Given the description of an element on the screen output the (x, y) to click on. 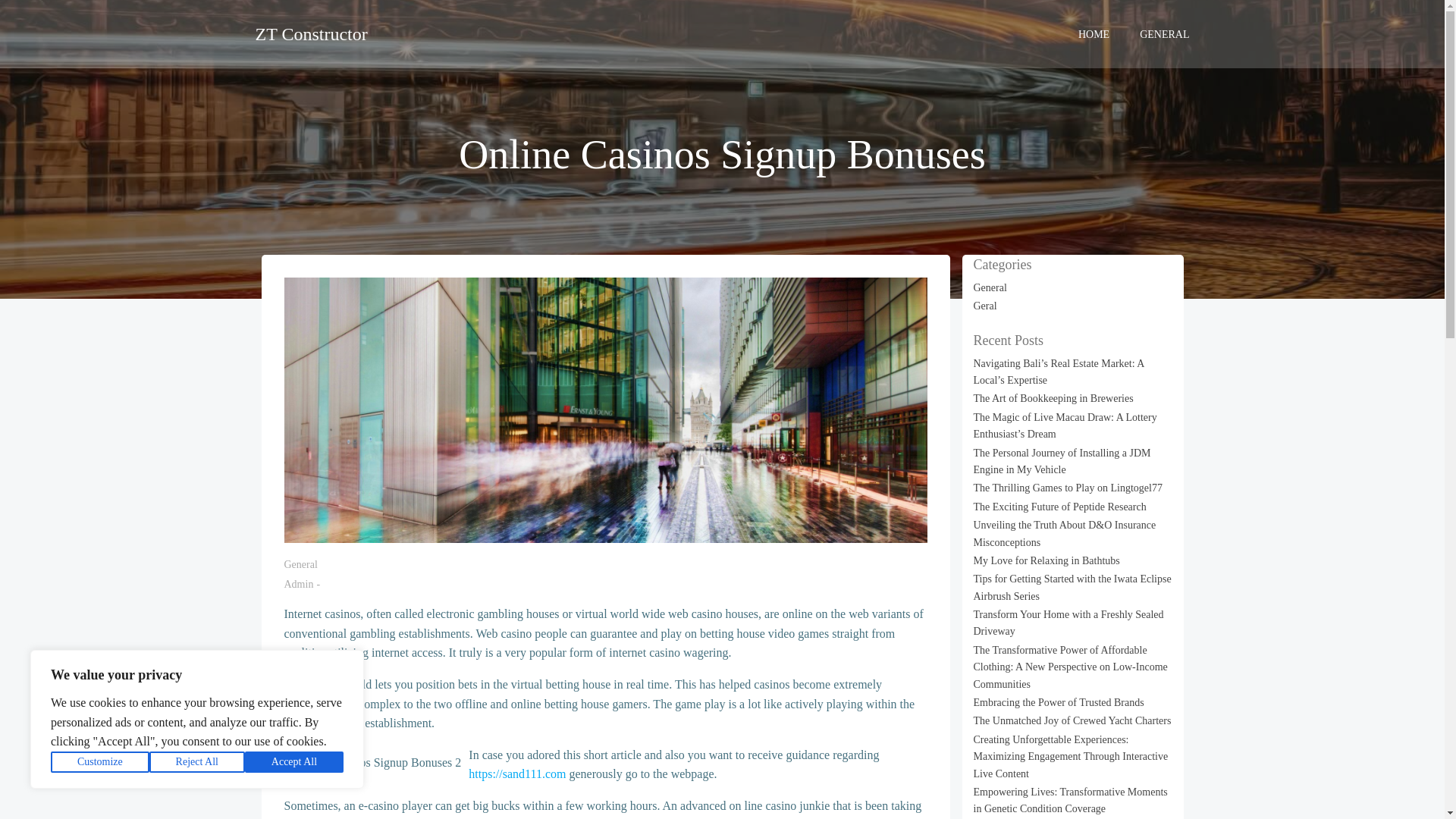
GENERAL (1164, 33)
HOME (1093, 33)
Customize (99, 762)
The Art of Bookkeeping in Breweries (1054, 398)
General (300, 564)
ZT Constructor (310, 33)
Reject All (196, 762)
General (990, 287)
Accept All (293, 762)
Admin (298, 584)
